Given the description of an element on the screen output the (x, y) to click on. 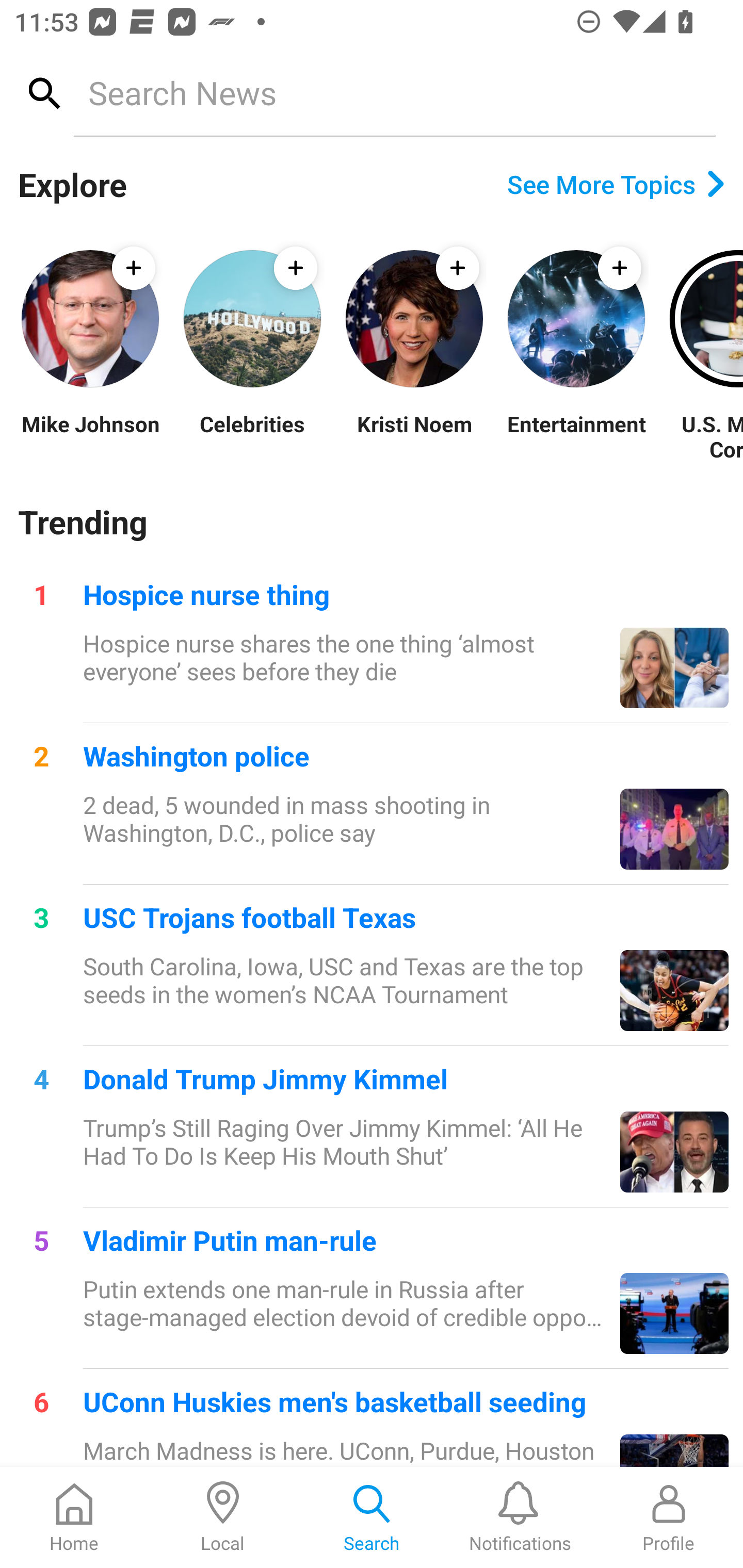
Search News (394, 92)
See More Topics (616, 183)
Mike Johnson (89, 436)
Celebrities (251, 436)
Kristi Noem (413, 436)
Entertainment (575, 436)
Home (74, 1517)
Local (222, 1517)
Notifications (519, 1517)
Profile (668, 1517)
